Given the description of an element on the screen output the (x, y) to click on. 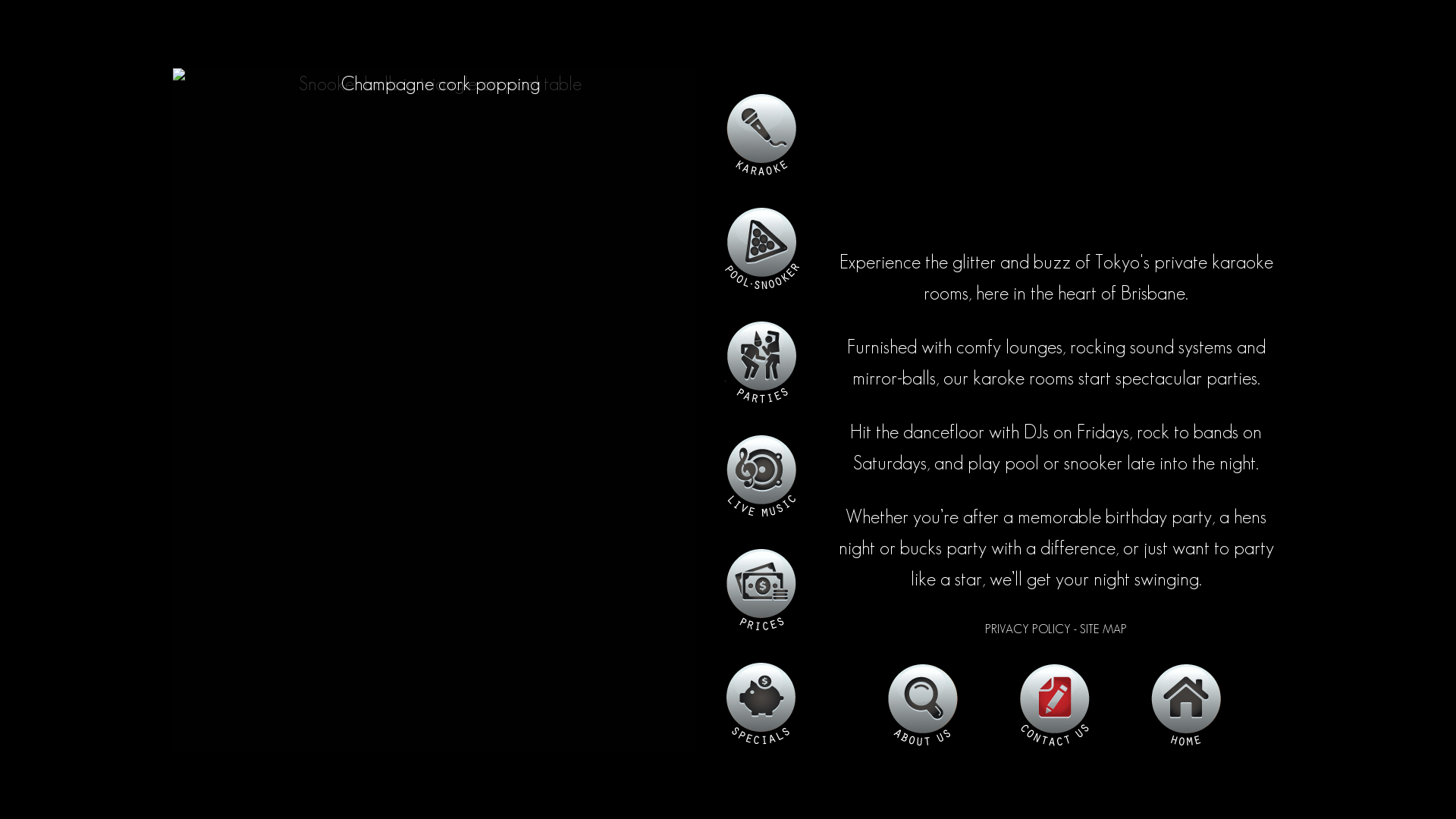
0 Element type: text (1056, 703)
0 Element type: text (761, 247)
0 Element type: text (761, 474)
0 Element type: text (761, 361)
0 Element type: text (761, 588)
PRIVACY POLICY Element type: text (1027, 628)
0 Element type: text (761, 133)
0 Element type: text (924, 703)
0 Element type: text (1188, 703)
0 Element type: text (761, 702)
SITE MAP Element type: text (1102, 628)
